Given the description of an element on the screen output the (x, y) to click on. 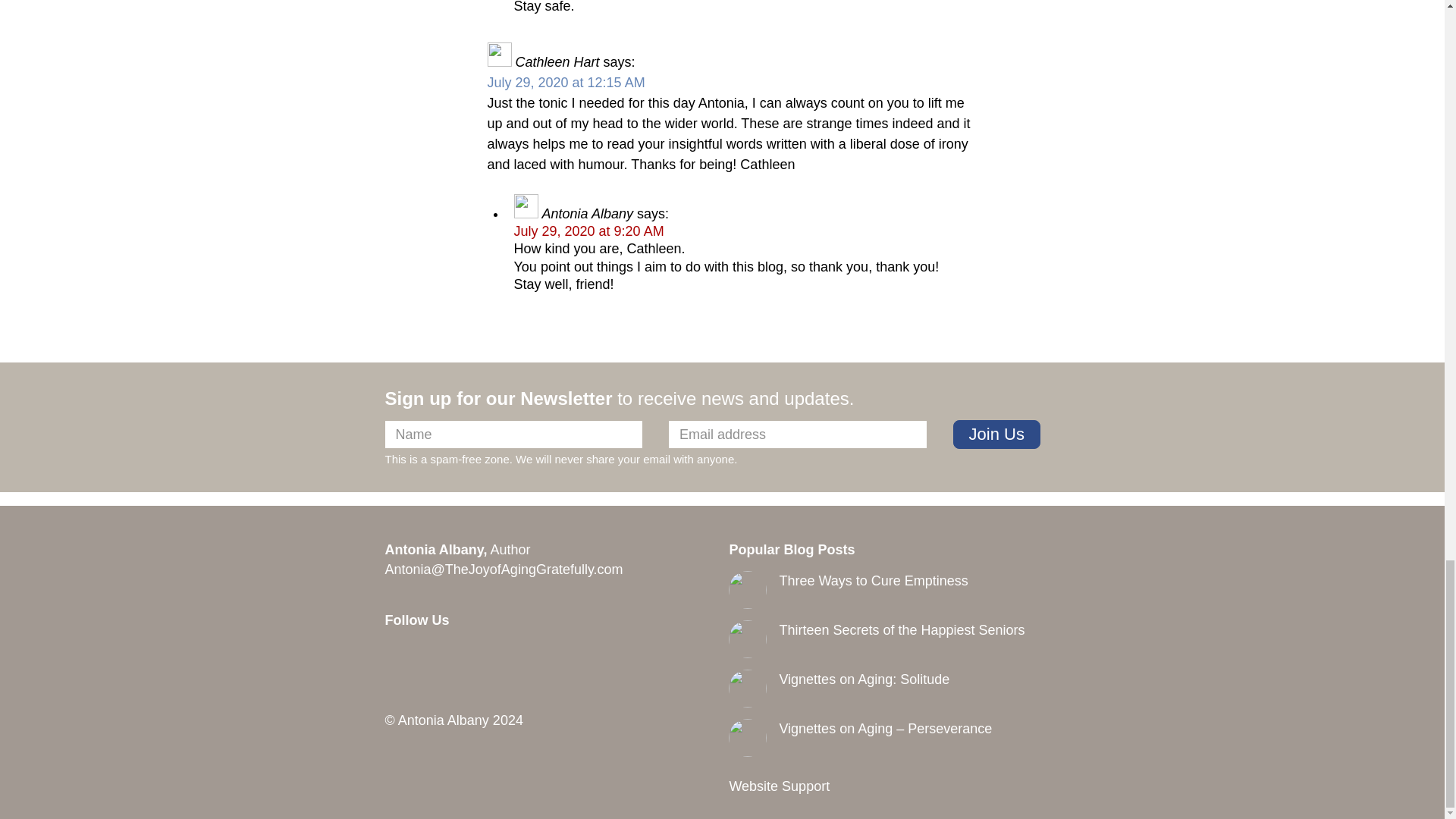
Website Support (779, 785)
Three Ways to Cure Emptiness (873, 580)
Join Us (997, 434)
Thirteen Secrets of the Happiest Seniors (901, 630)
Join Us (997, 434)
July 29, 2020 at 9:20 AM (588, 231)
July 29, 2020 at 12:15 AM (565, 82)
Vignettes on Aging: Solitude (863, 679)
Name (514, 433)
